Given the description of an element on the screen output the (x, y) to click on. 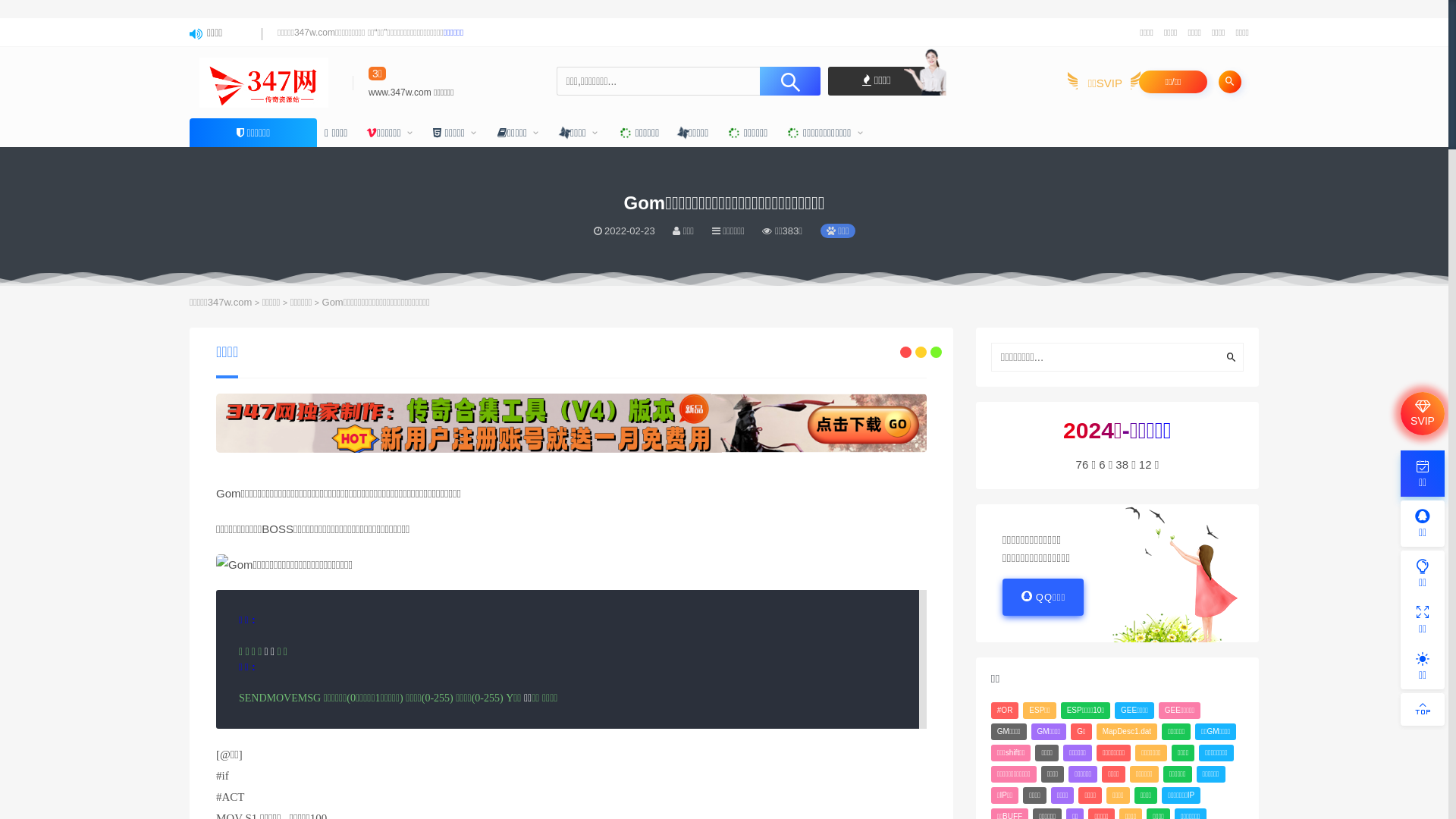
SVIP Element type: text (1422, 413)
#OR Element type: text (1005, 710)
MapDesc1.dat Element type: text (1126, 731)
347w.com Element type: text (229, 301)
